Given the description of an element on the screen output the (x, y) to click on. 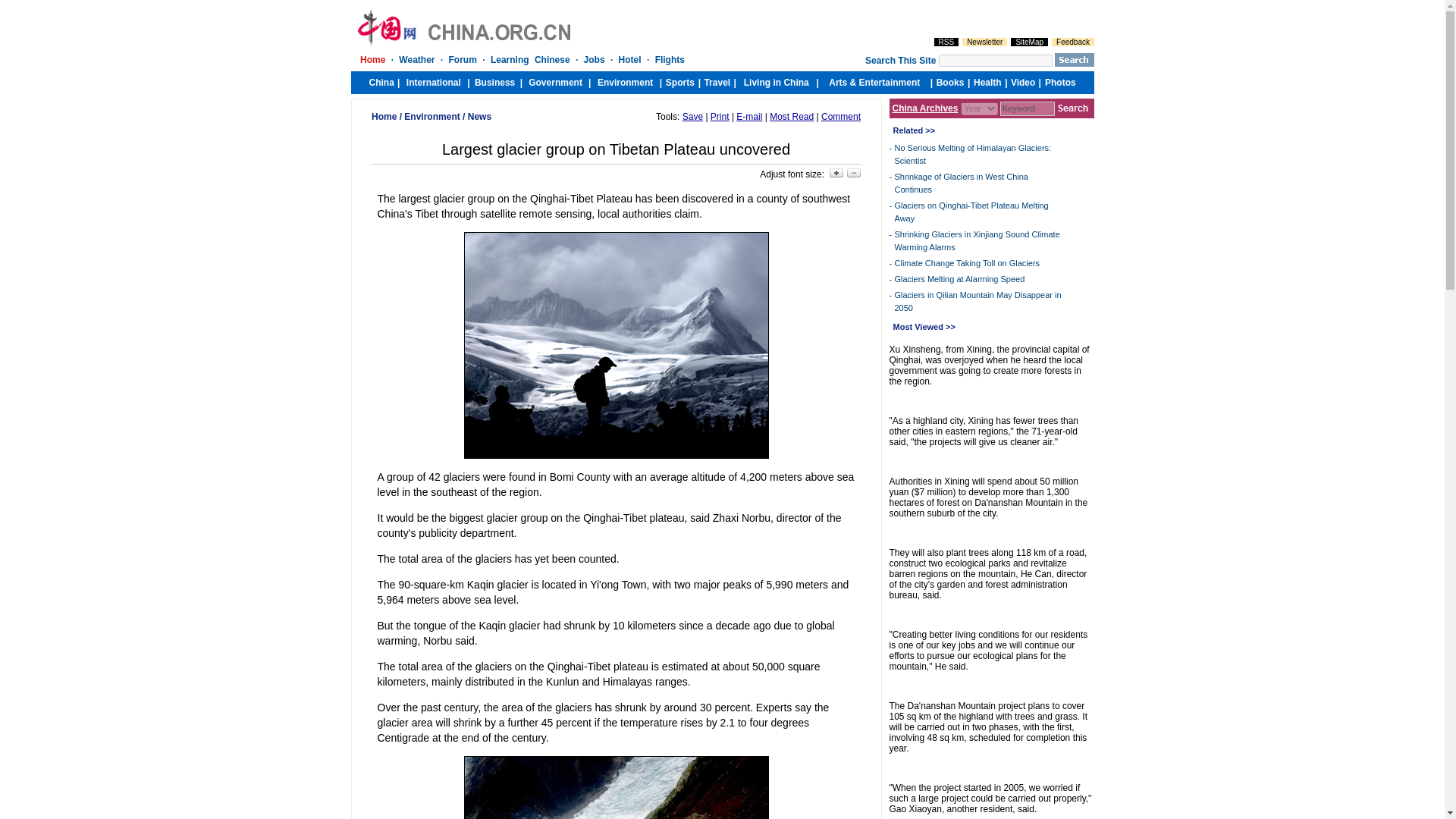
Comment (840, 116)
Keyword (1027, 108)
E-mail (748, 116)
Glaciers in Qilian Mountain May Disappear in 2050 (978, 301)
No Serious Melting of Himalayan Glaciers: Scientist (973, 154)
Glaciers Melting at Alarming Speed (960, 278)
Home (383, 116)
Shrinking Glaciers in Xinjiang Sound Climate Warming Alarms (977, 240)
Shrinkage of Glaciers in West China Continues (962, 182)
Glaciers on Qinghai-Tibet Plateau Melting Away (971, 211)
